Given the description of an element on the screen output the (x, y) to click on. 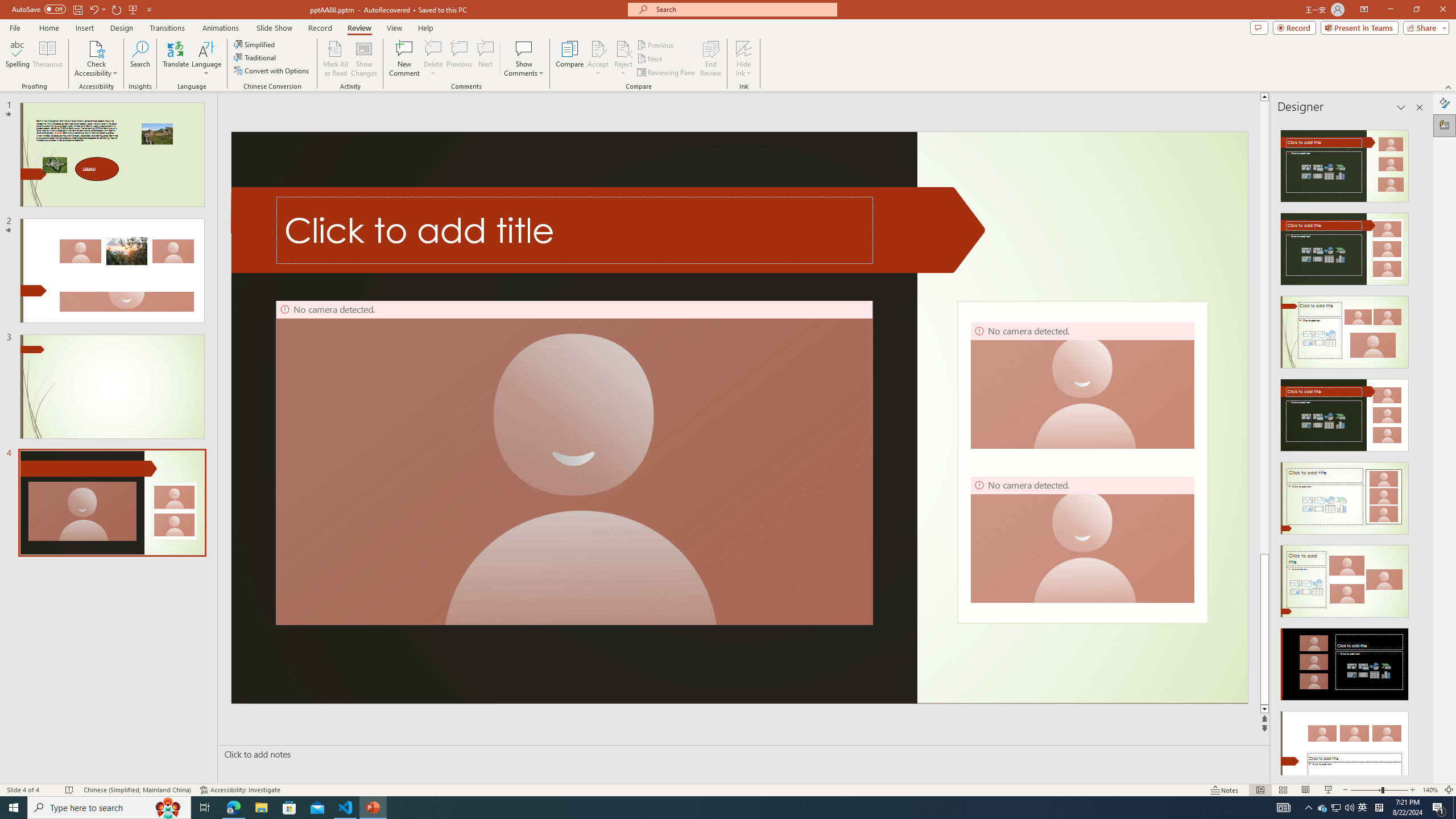
Translate (175, 58)
Check Accessibility (95, 48)
Decorative Locked (1082, 462)
End Review (710, 58)
Reject (622, 58)
Check Accessibility (95, 58)
Next (649, 58)
Previous (655, 44)
Delete (432, 48)
